Given the description of an element on the screen output the (x, y) to click on. 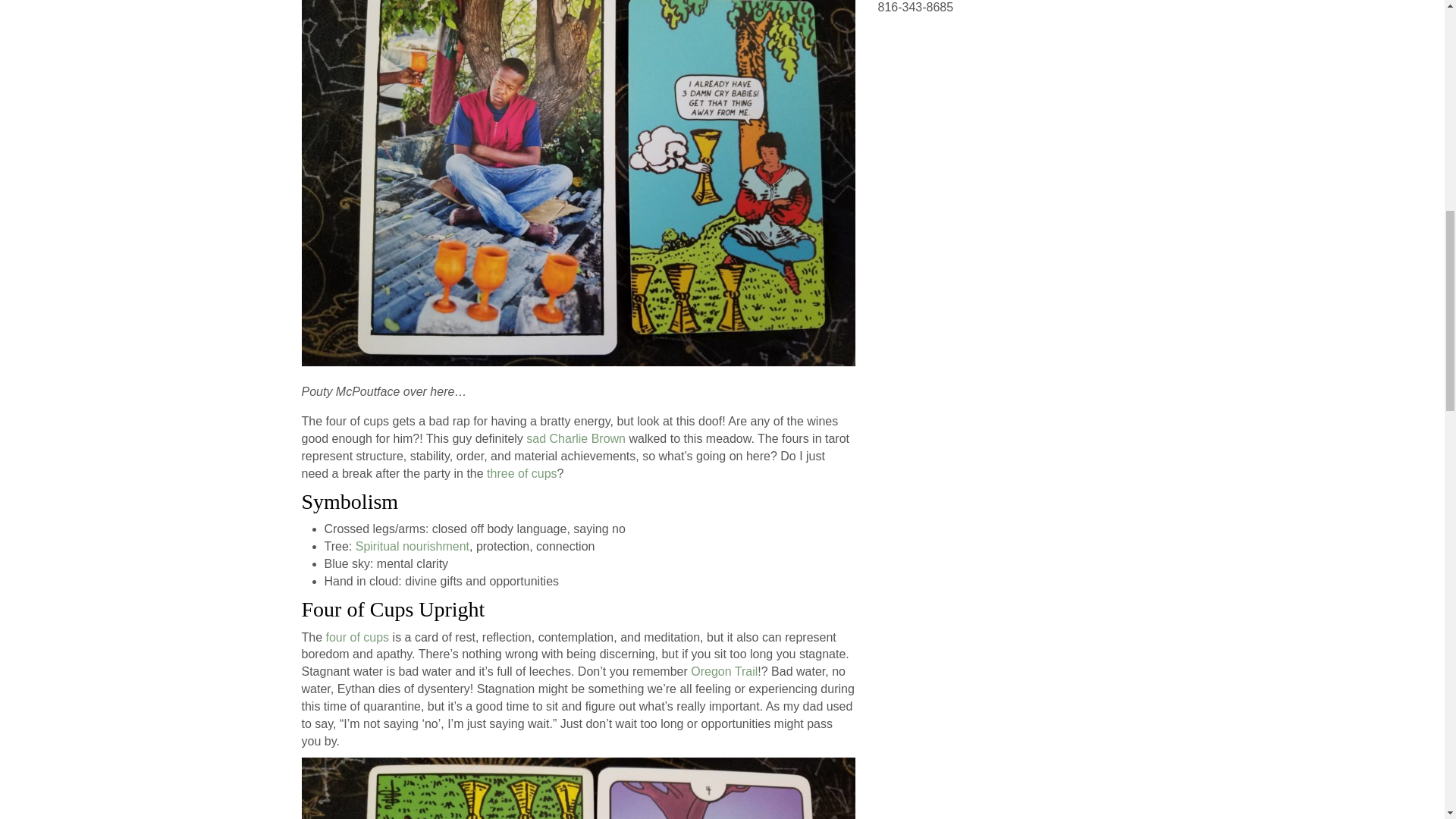
four of cups (358, 636)
sad Charlie Brown (575, 438)
three of cups (521, 472)
Spiritual nourishment (411, 545)
Oregon Trail (723, 671)
